Given the description of an element on the screen output the (x, y) to click on. 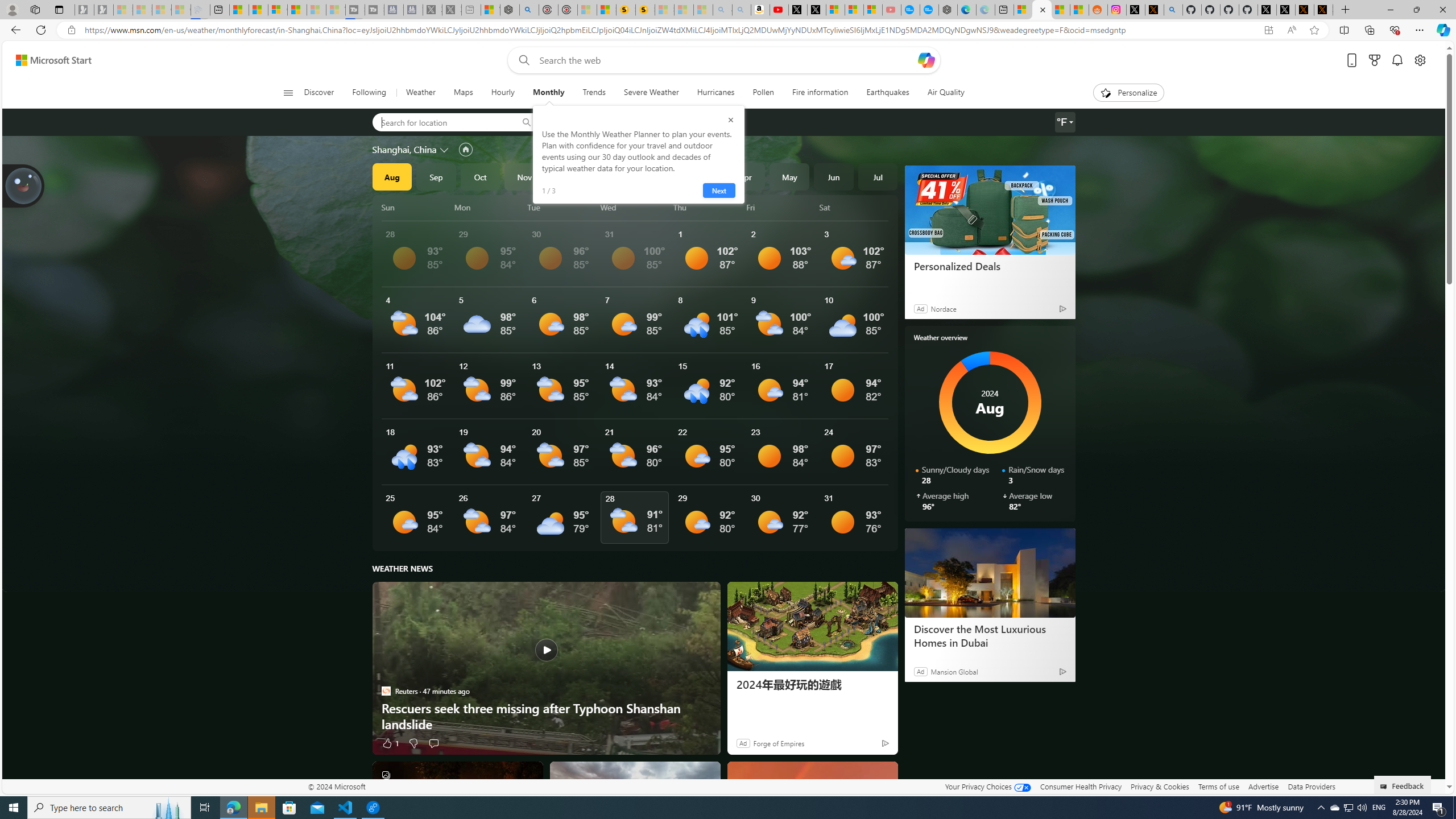
Discover the Most Luxurious Homes in Dubai (988, 635)
Wed (634, 207)
Earthquakes (888, 92)
Maps (462, 92)
Maps (462, 92)
Discover the Most Luxurious Homes in Dubai (989, 572)
Privacy & Cookies (1160, 785)
